Given the description of an element on the screen output the (x, y) to click on. 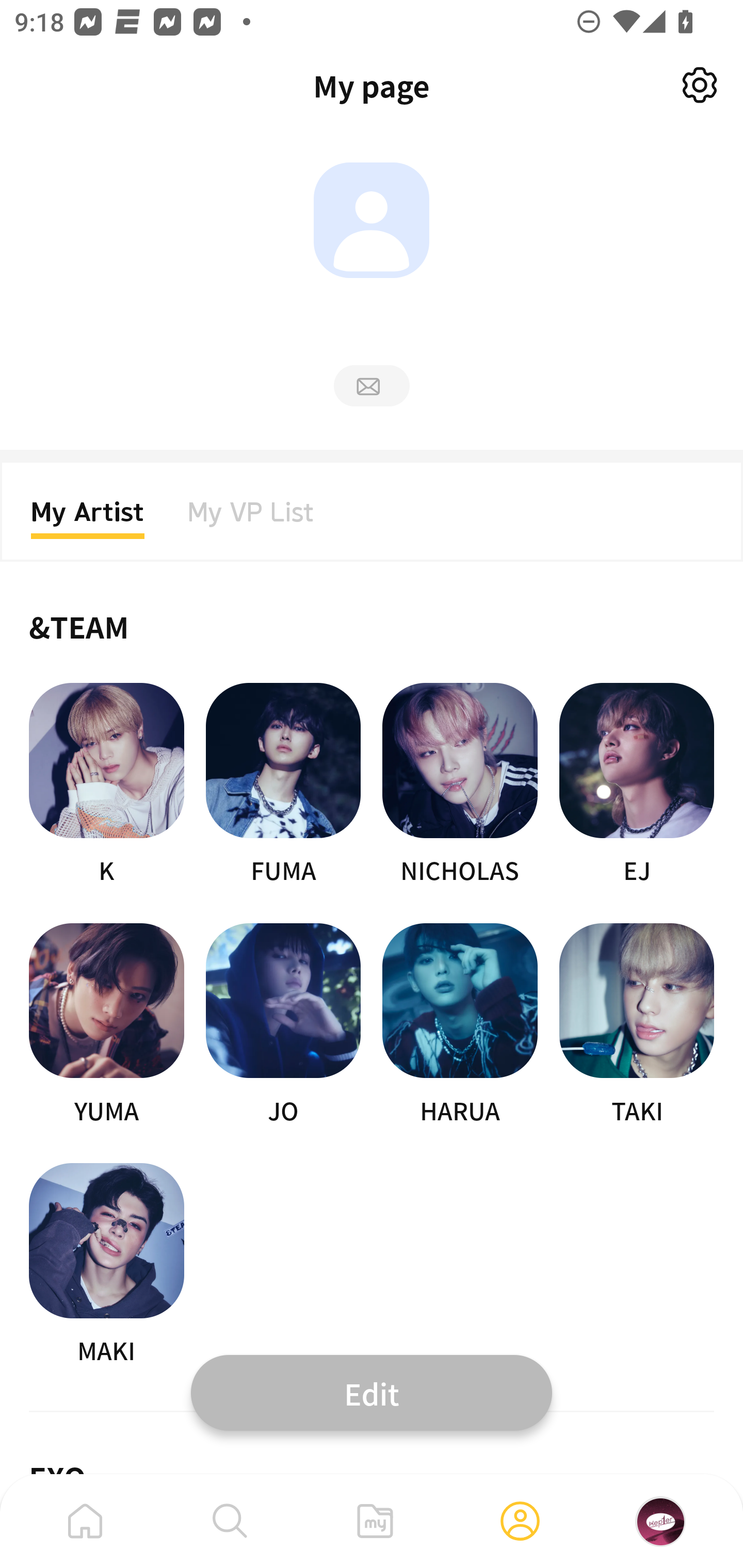
My Artist (87, 517)
My VP List (250, 517)
K (106, 785)
FUMA (282, 785)
NICHOLAS (459, 785)
EJ (636, 785)
YUMA (106, 1025)
JO (282, 1025)
HARUA (459, 1025)
TAKI (636, 1025)
MAKI (106, 1265)
Edit (371, 1392)
